Given the description of an element on the screen output the (x, y) to click on. 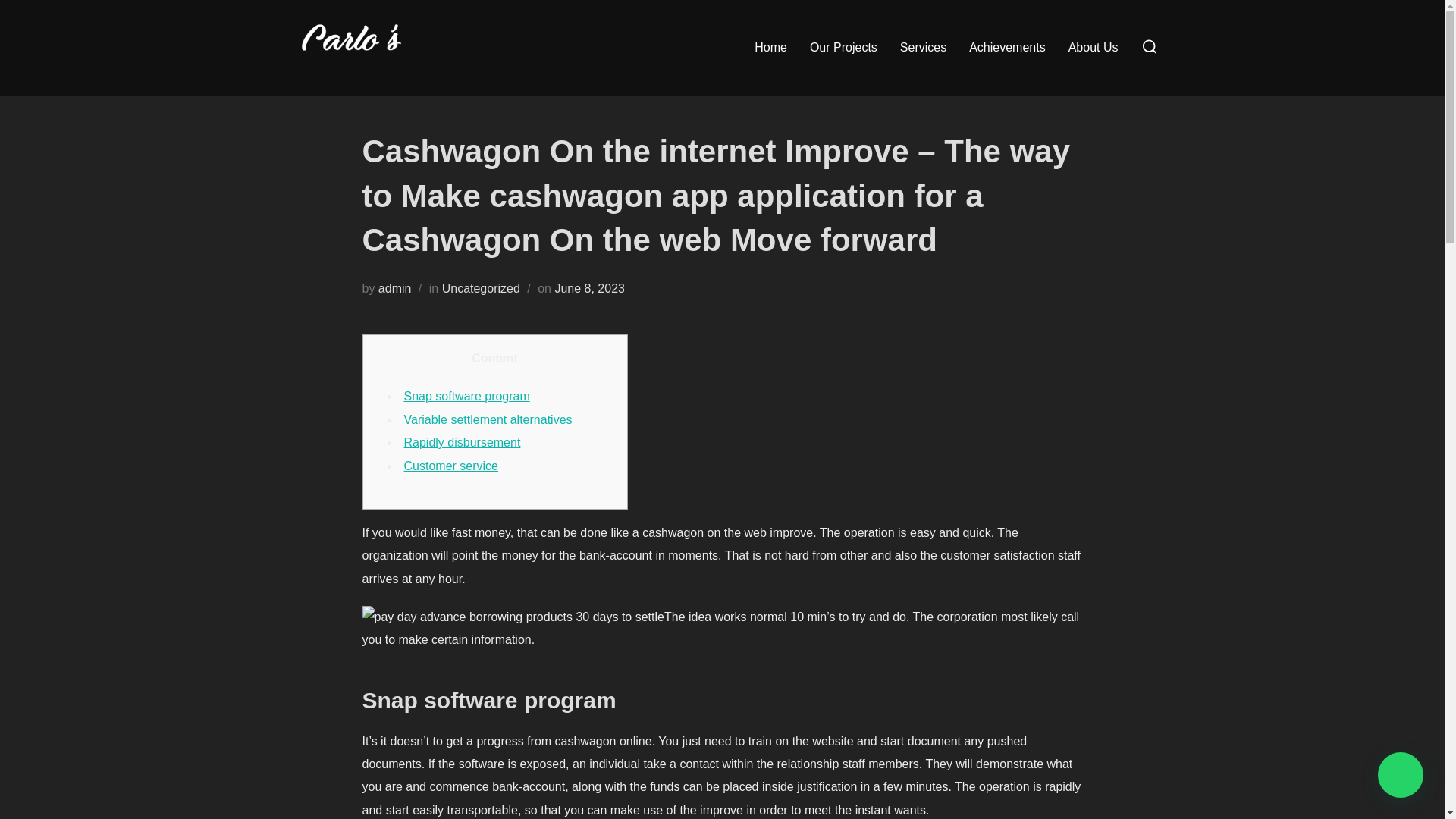
Variable settlement alternatives (487, 419)
Achievements (1007, 47)
Our Projects (843, 47)
Services (922, 47)
June 8, 2023 (589, 287)
admin (395, 287)
Rapidly disbursement (461, 441)
About Us (1093, 47)
Uncategorized (480, 287)
Snap software program (466, 395)
